Given the description of an element on the screen output the (x, y) to click on. 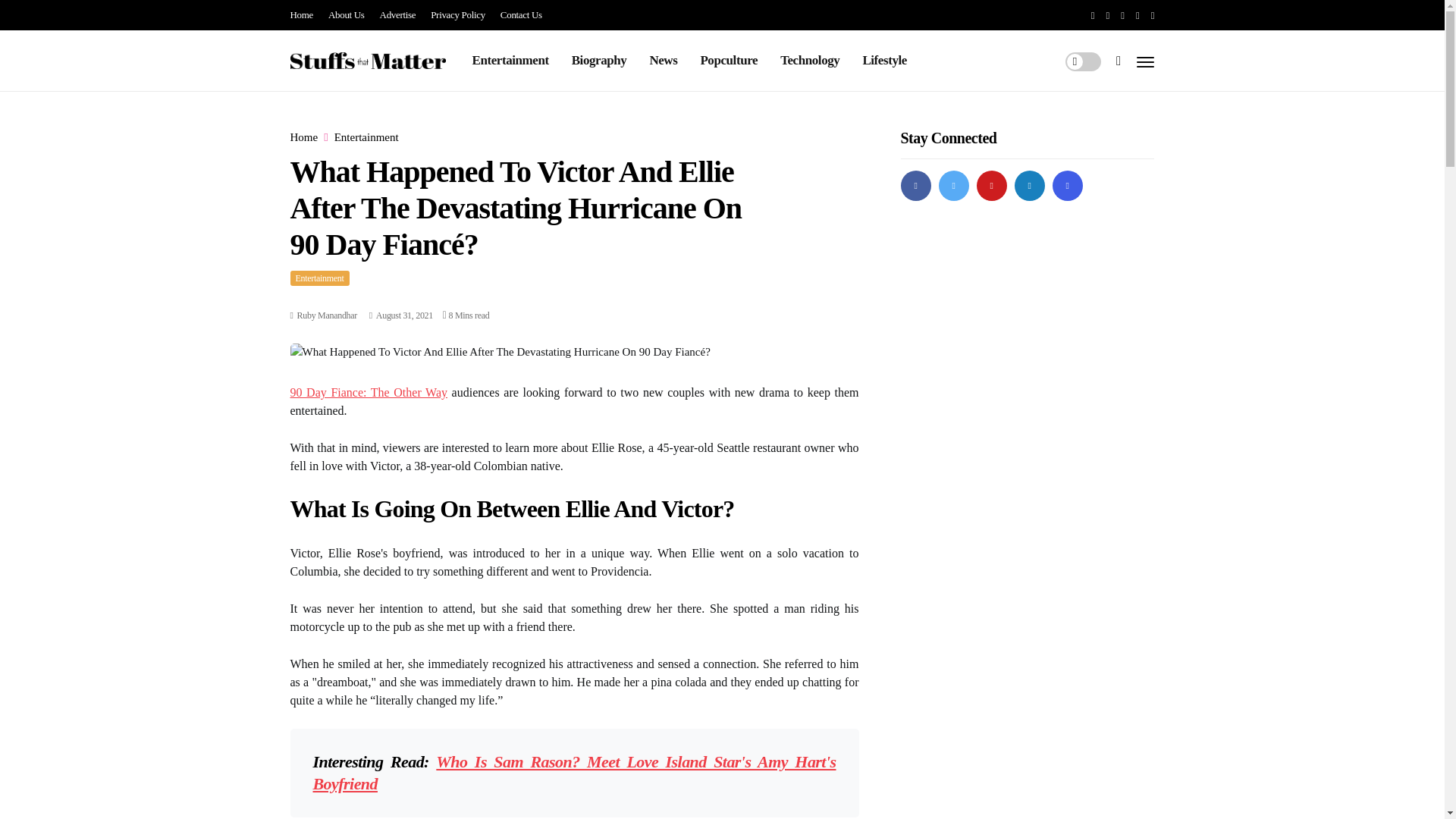
August 31, 2021 11:36 AM (400, 315)
Advertise (398, 15)
Entertainment (366, 137)
Posts by Ruby Manandhar (326, 315)
Entertainment (319, 277)
Privacy Policy (457, 15)
Contact Us (520, 15)
Ruby Manandhar (326, 315)
Home (303, 137)
Biography (599, 60)
